Given the description of an element on the screen output the (x, y) to click on. 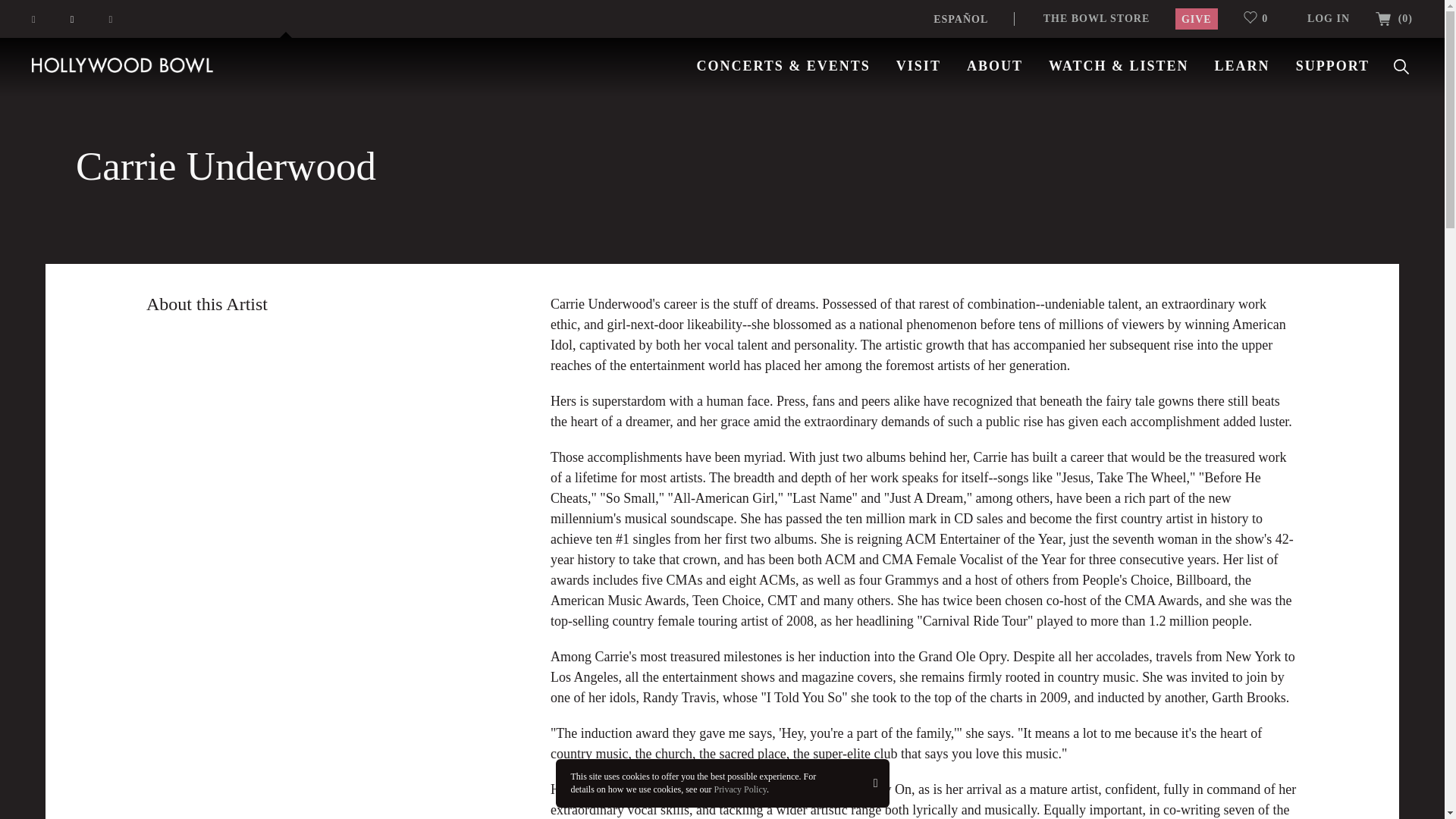
THE BOWL STORE (1096, 18)
0 (1262, 18)
LOG IN (1328, 18)
ABOUT (994, 65)
GIVE (1195, 18)
VISIT (918, 65)
Homepage (123, 64)
